Given the description of an element on the screen output the (x, y) to click on. 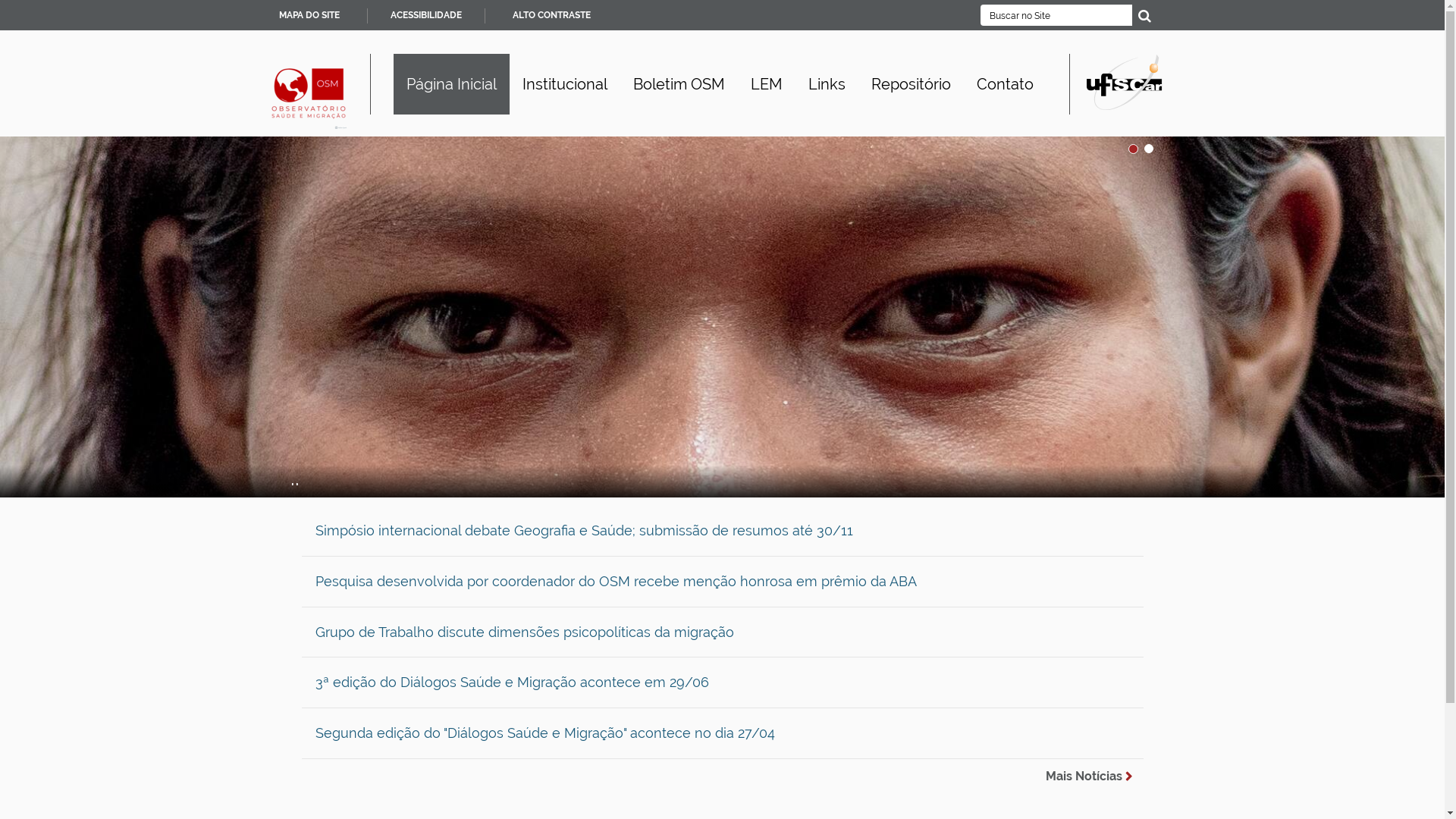
Portal UFSCar Element type: hover (1123, 80)
Links Element type: text (825, 83)
ALTO CONTRASTE Element type: text (551, 14)
Buscar no Site Element type: hover (1055, 14)
Institucional Element type: text (564, 83)
MAPA DO SITE Element type: text (309, 14)
LEM Element type: text (765, 83)
ACESSIBILIDADE Element type: text (425, 14)
Contato Element type: text (1004, 83)
Boletim OSM Element type: text (678, 83)
